Given the description of an element on the screen output the (x, y) to click on. 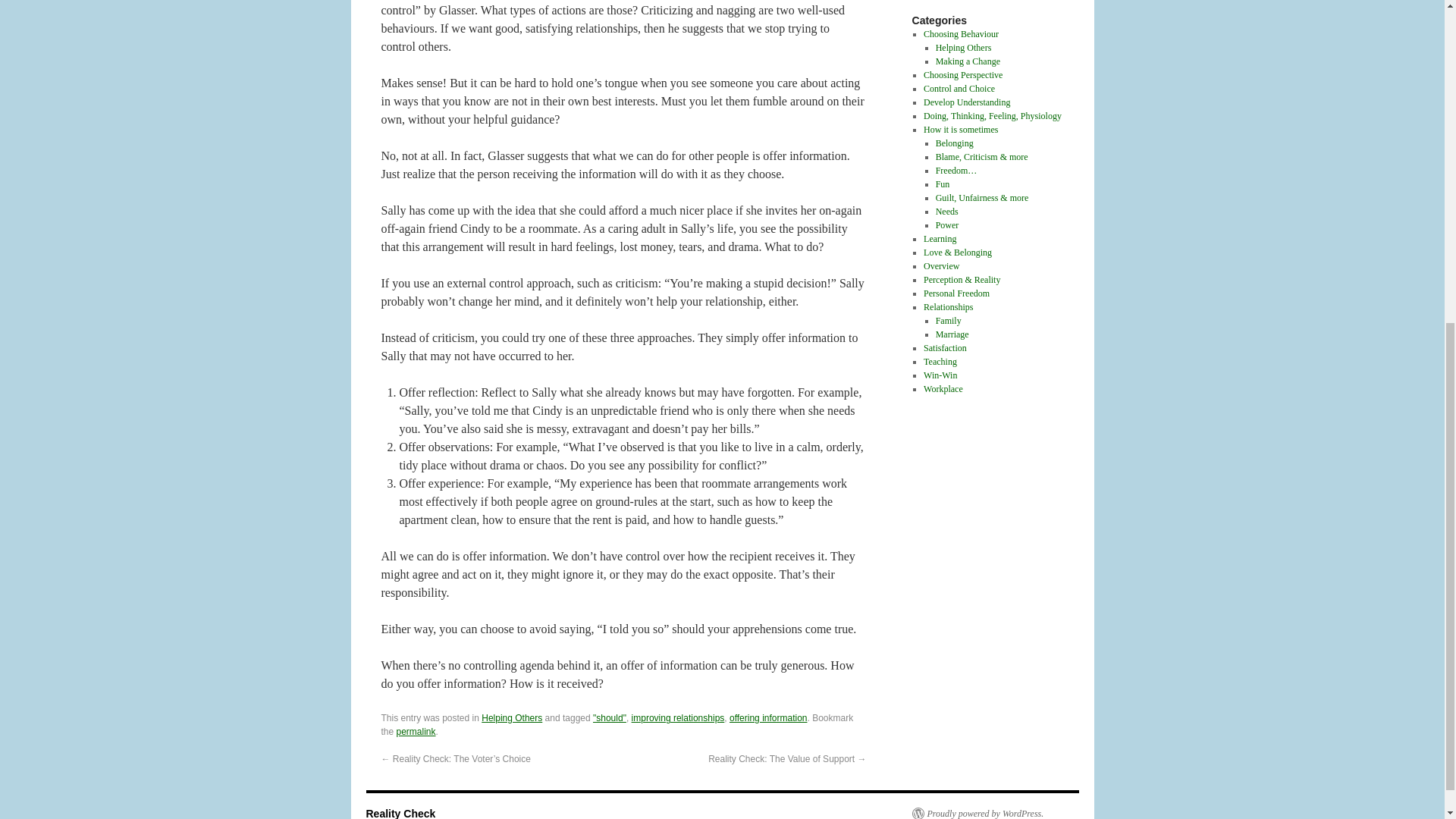
Needs (947, 211)
Personal Freedom (956, 293)
Control and Choice (958, 88)
Doing, Thinking, Feeling, Physiology (992, 115)
How it is sometimes (960, 129)
Learning (939, 238)
Fun (943, 184)
Making a Change (968, 61)
Helping Others (963, 47)
Choosing Behaviour (960, 33)
